Given the description of an element on the screen output the (x, y) to click on. 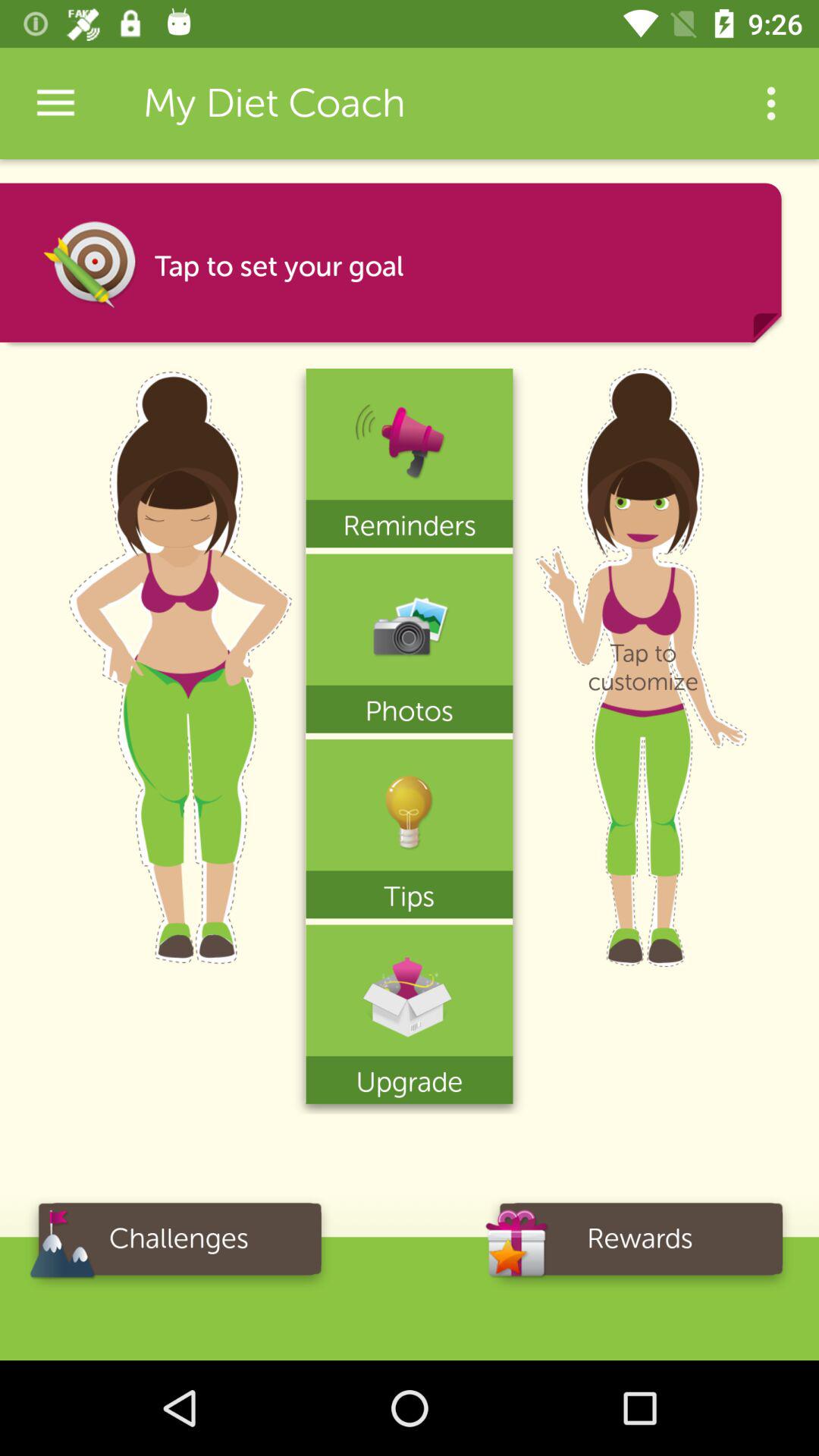
choose item to the right of challenges icon (639, 1243)
